Given the description of an element on the screen output the (x, y) to click on. 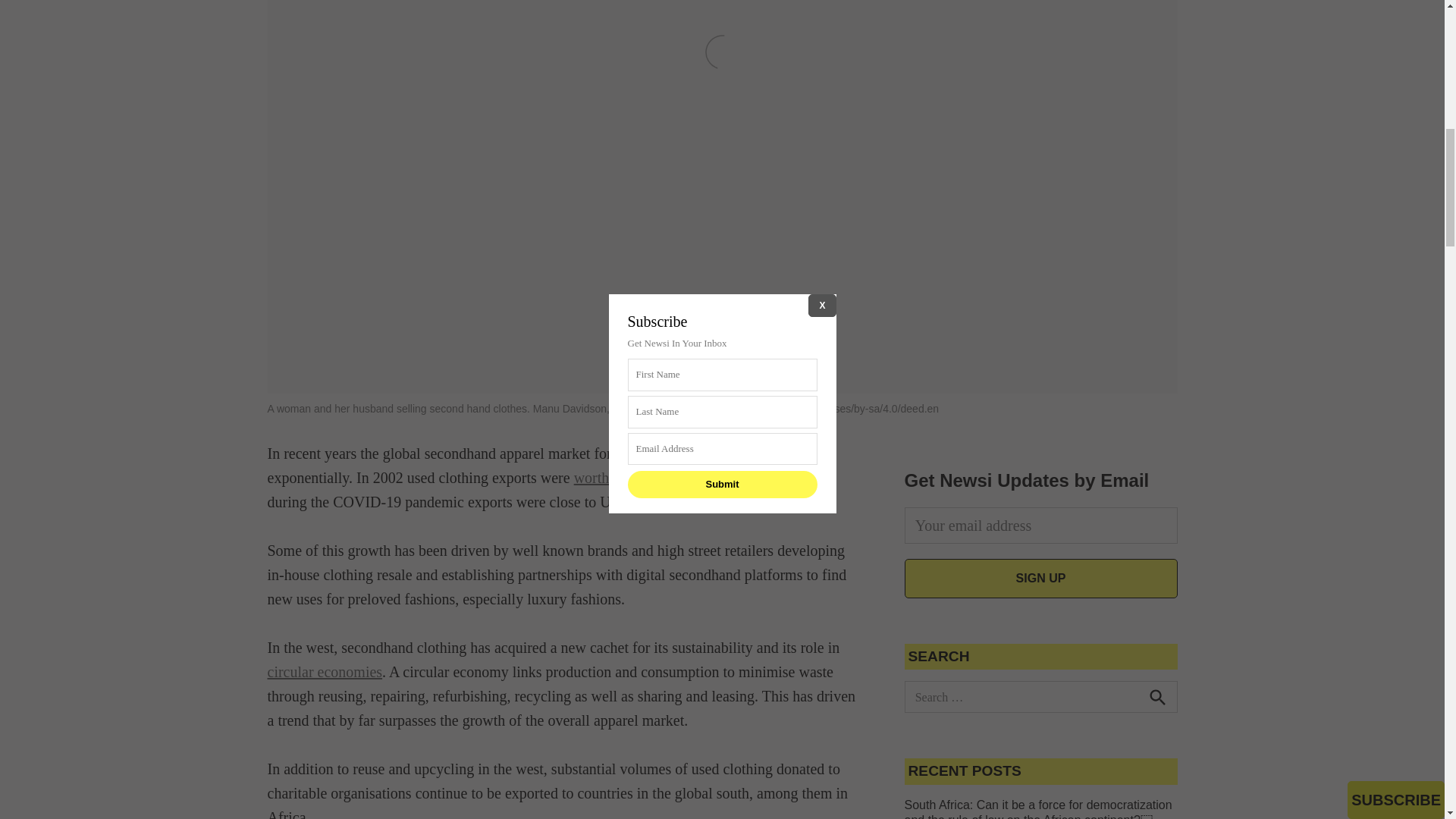
circular economies (323, 671)
Sign up (1040, 578)
2020 (712, 501)
worth (591, 477)
